Given the description of an element on the screen output the (x, y) to click on. 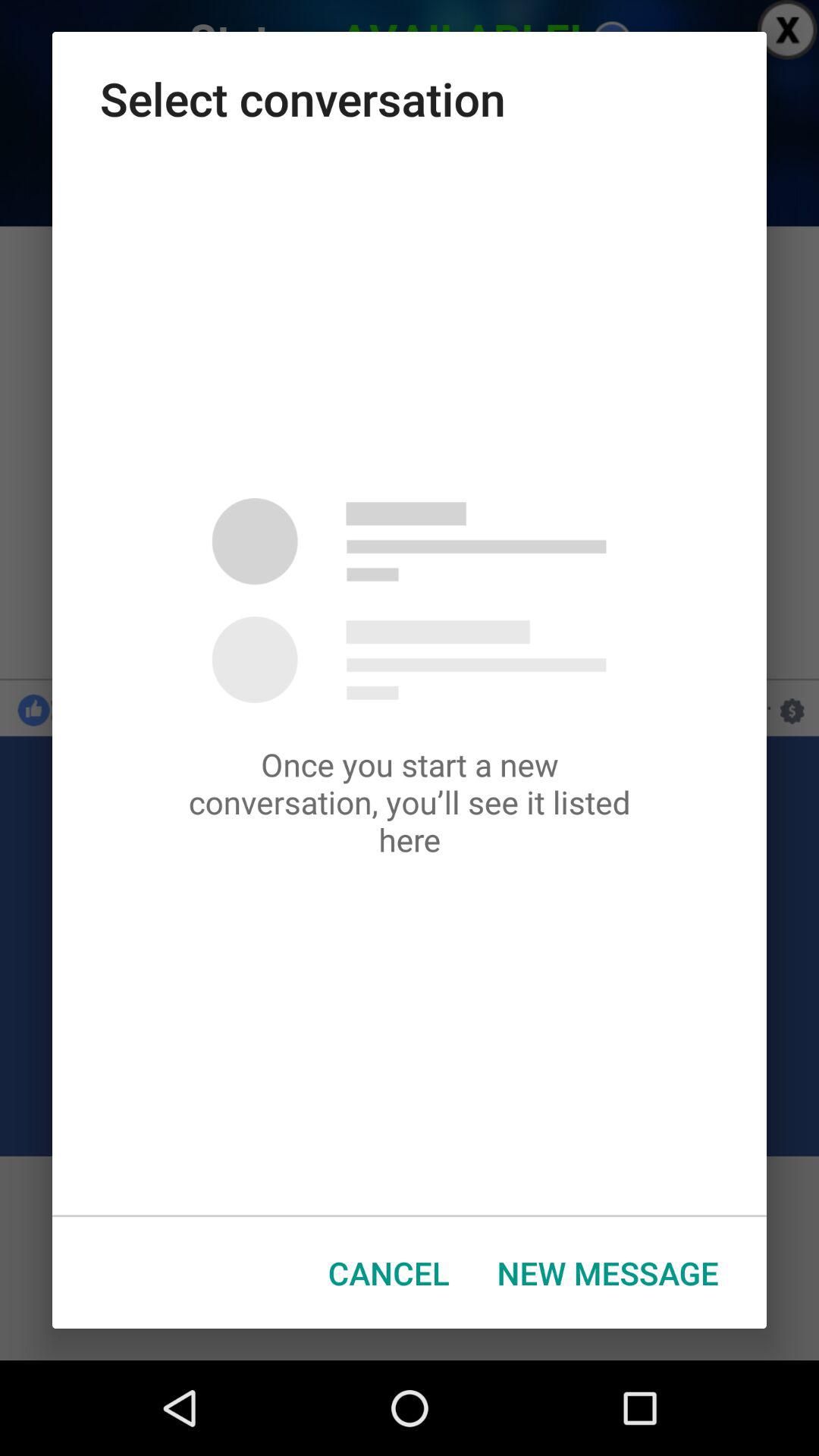
tap cancel (388, 1272)
